Given the description of an element on the screen output the (x, y) to click on. 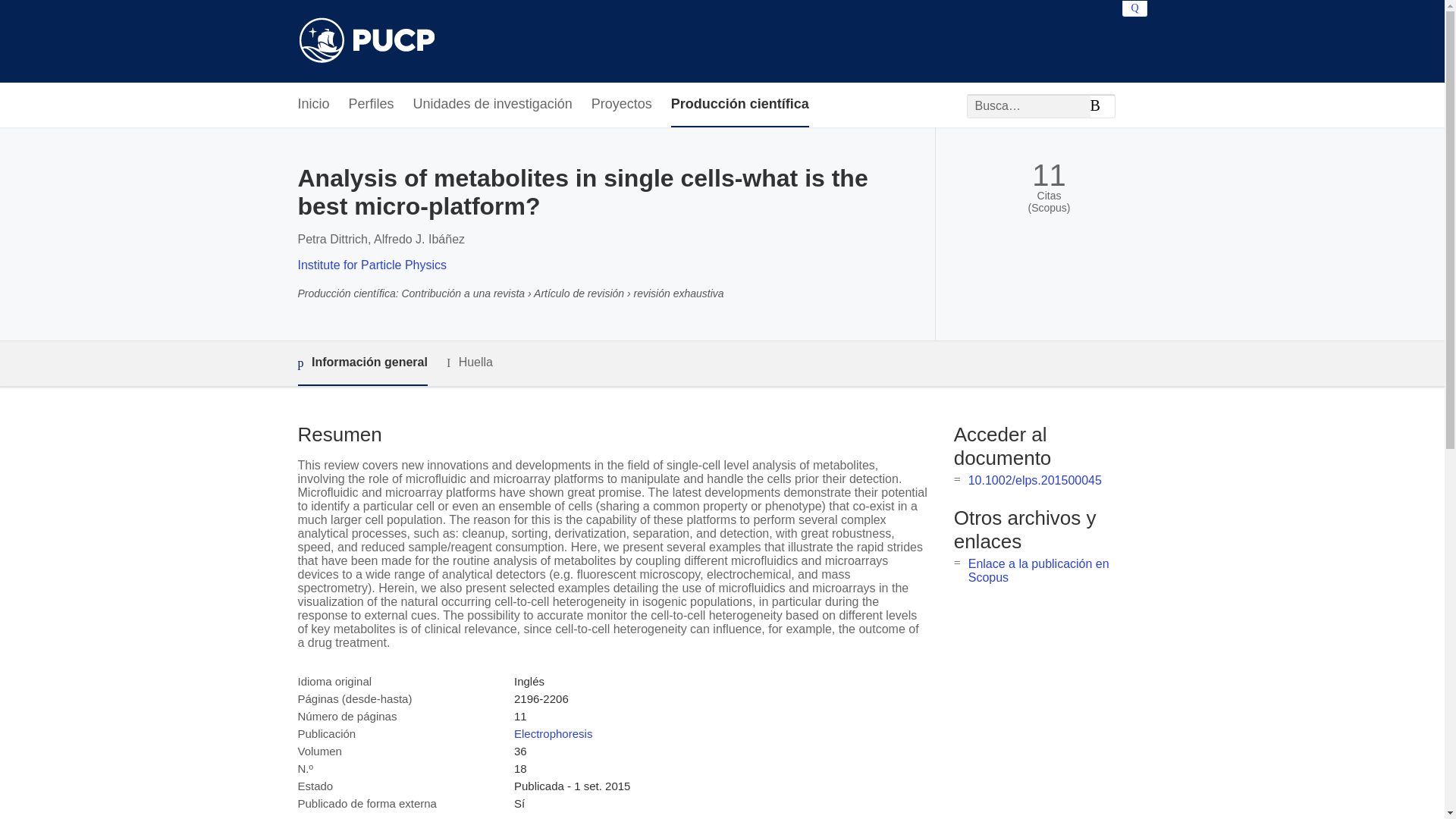
Huella (469, 362)
Perfiles (371, 104)
Electrophoresis (552, 733)
Proyectos (621, 104)
Institute for Particle Physics (371, 264)
